Given the description of an element on the screen output the (x, y) to click on. 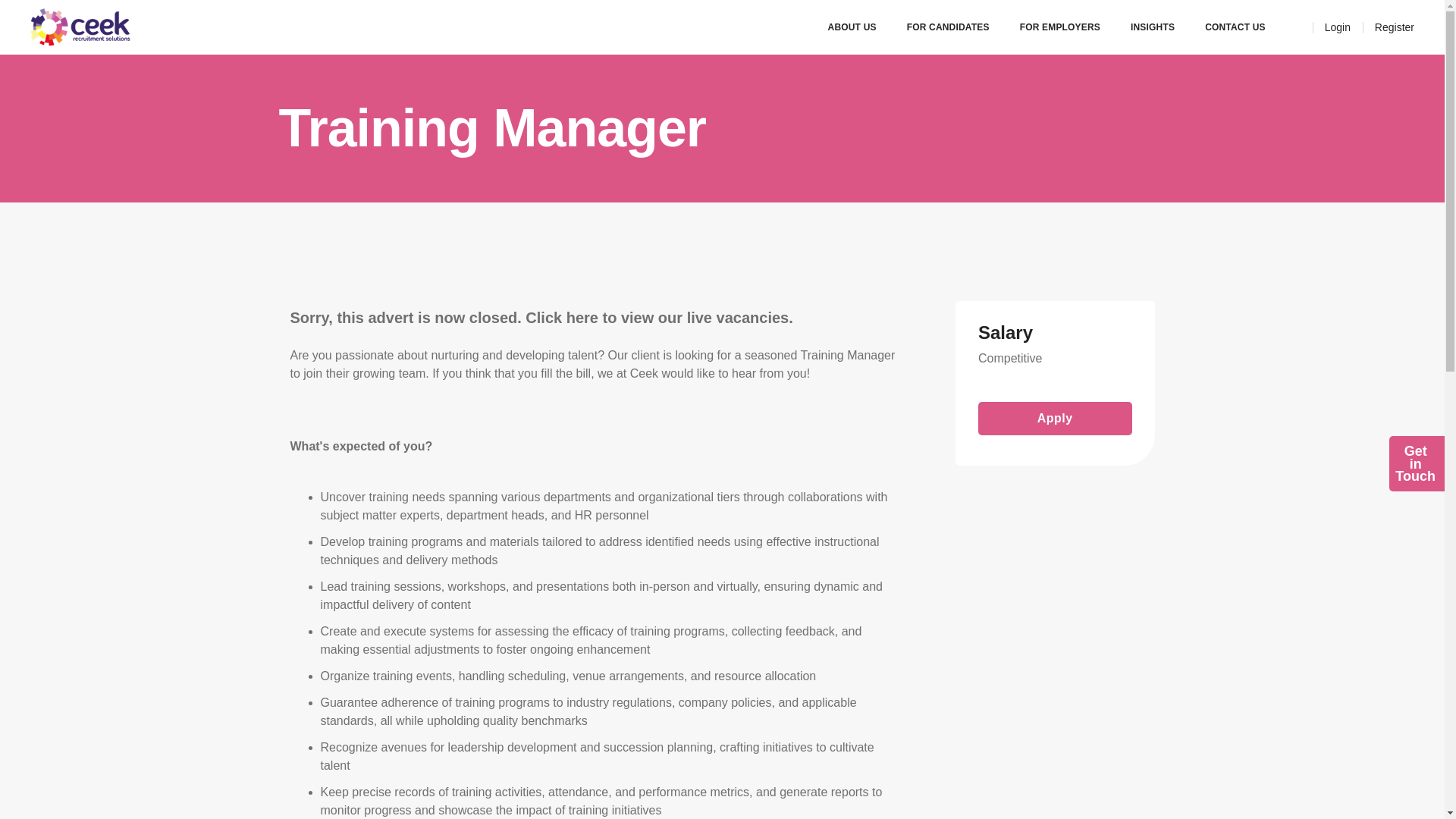
FOR EMPLOYERS (1060, 27)
Apply (1055, 418)
Login (1337, 27)
Ceek (80, 26)
CONTACT US (1235, 27)
Register (1414, 463)
FOR CANDIDATES (1393, 27)
here (948, 27)
